Given the description of an element on the screen output the (x, y) to click on. 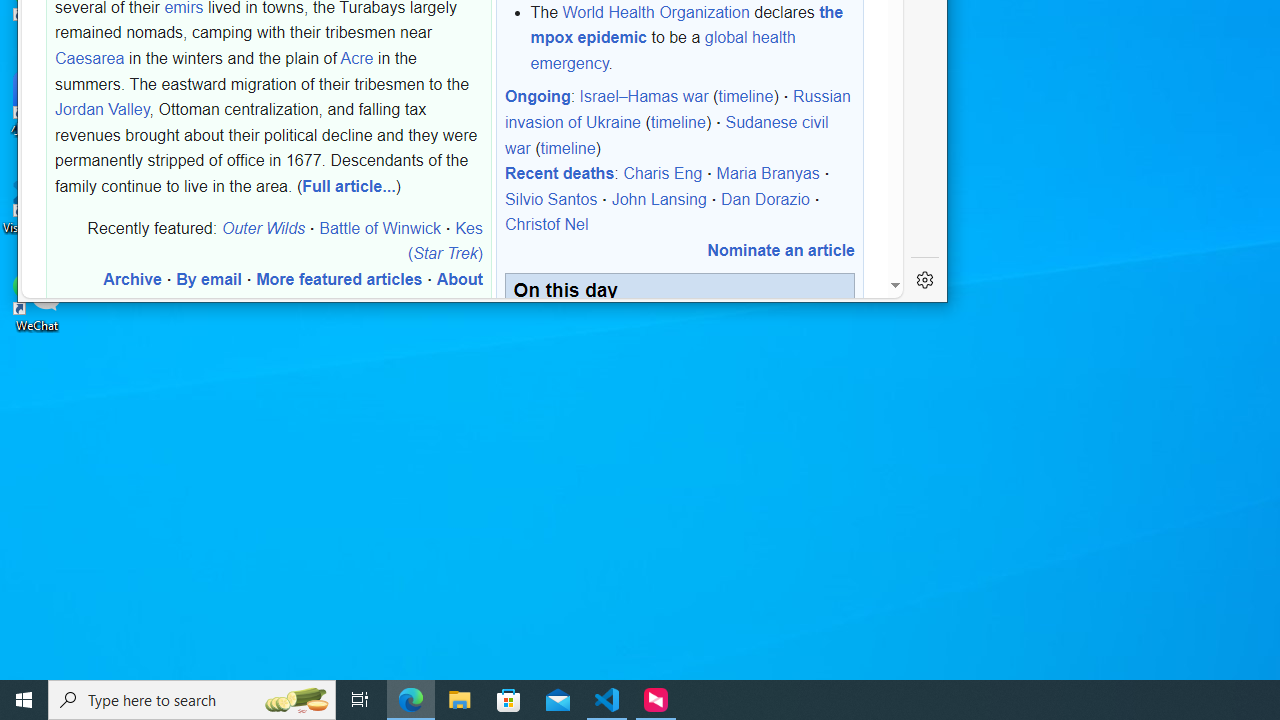
Start (24, 699)
Microsoft Store (509, 699)
Search highlights icon opens search home window (295, 699)
Task View (359, 699)
Microsoft Edge - 1 running window (411, 699)
Type here to search (191, 699)
File Explorer (460, 699)
Visual Studio Code - 1 running window (607, 699)
